Given the description of an element on the screen output the (x, y) to click on. 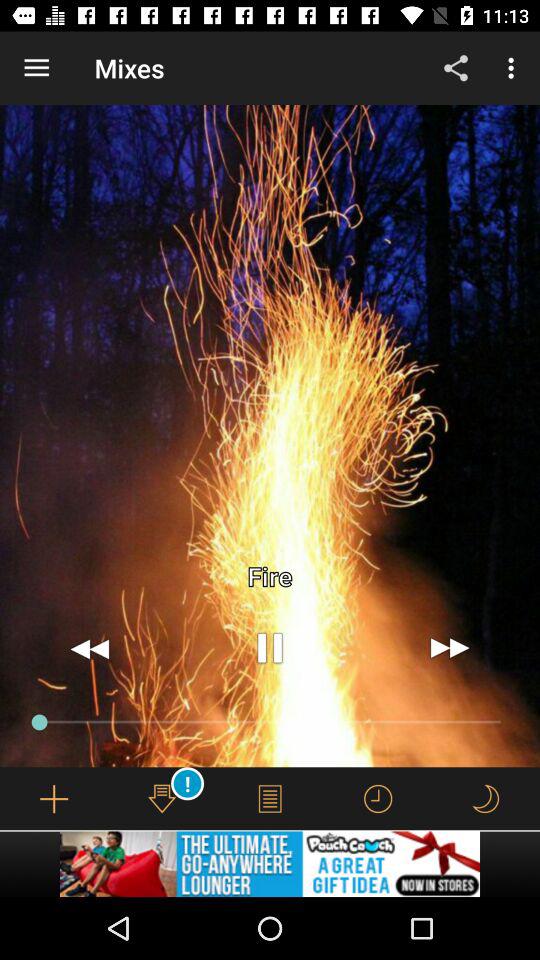
add to playlist (54, 798)
